Given the description of an element on the screen output the (x, y) to click on. 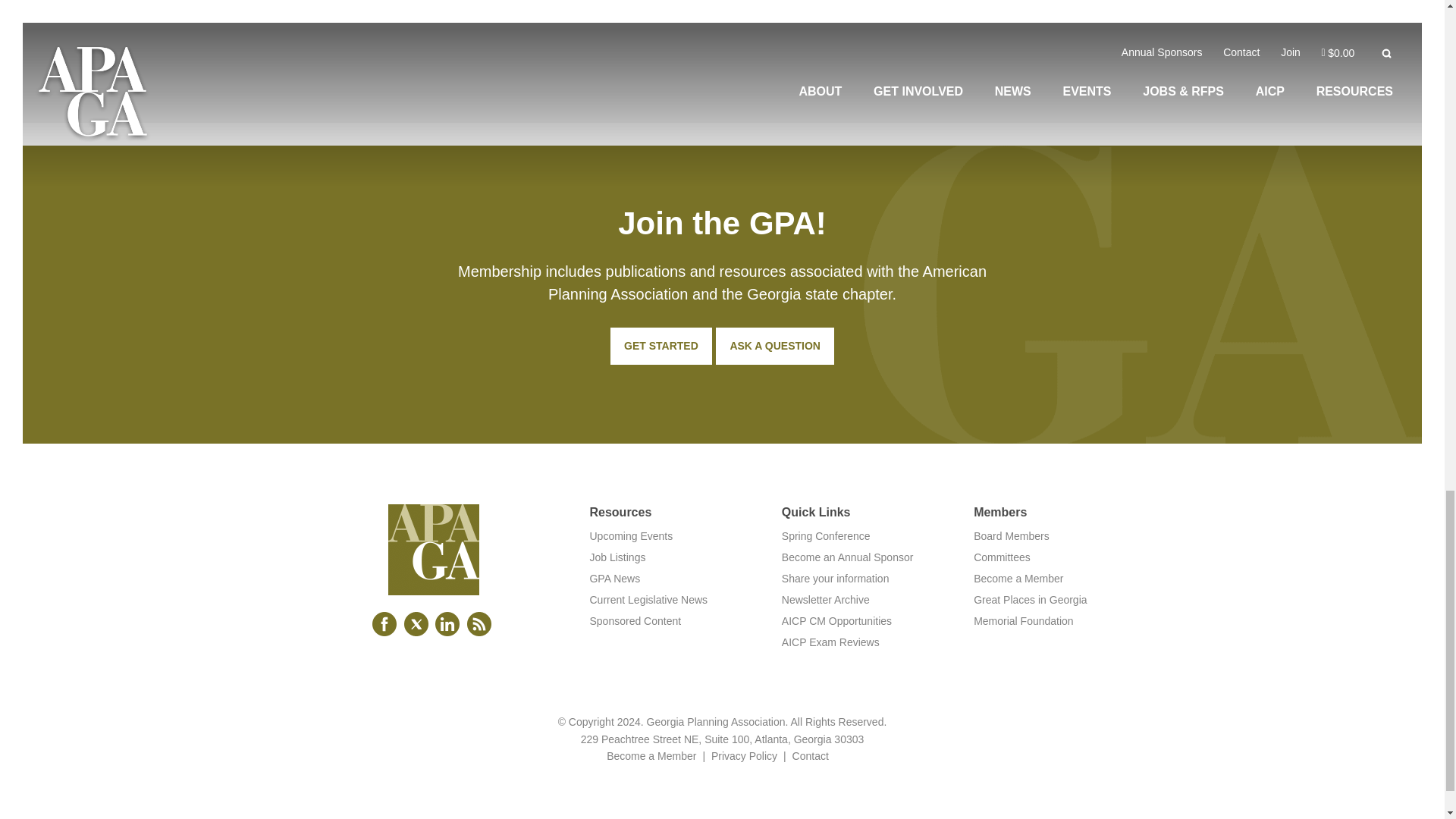
Georgia Planning Association (433, 582)
